Given the description of an element on the screen output the (x, y) to click on. 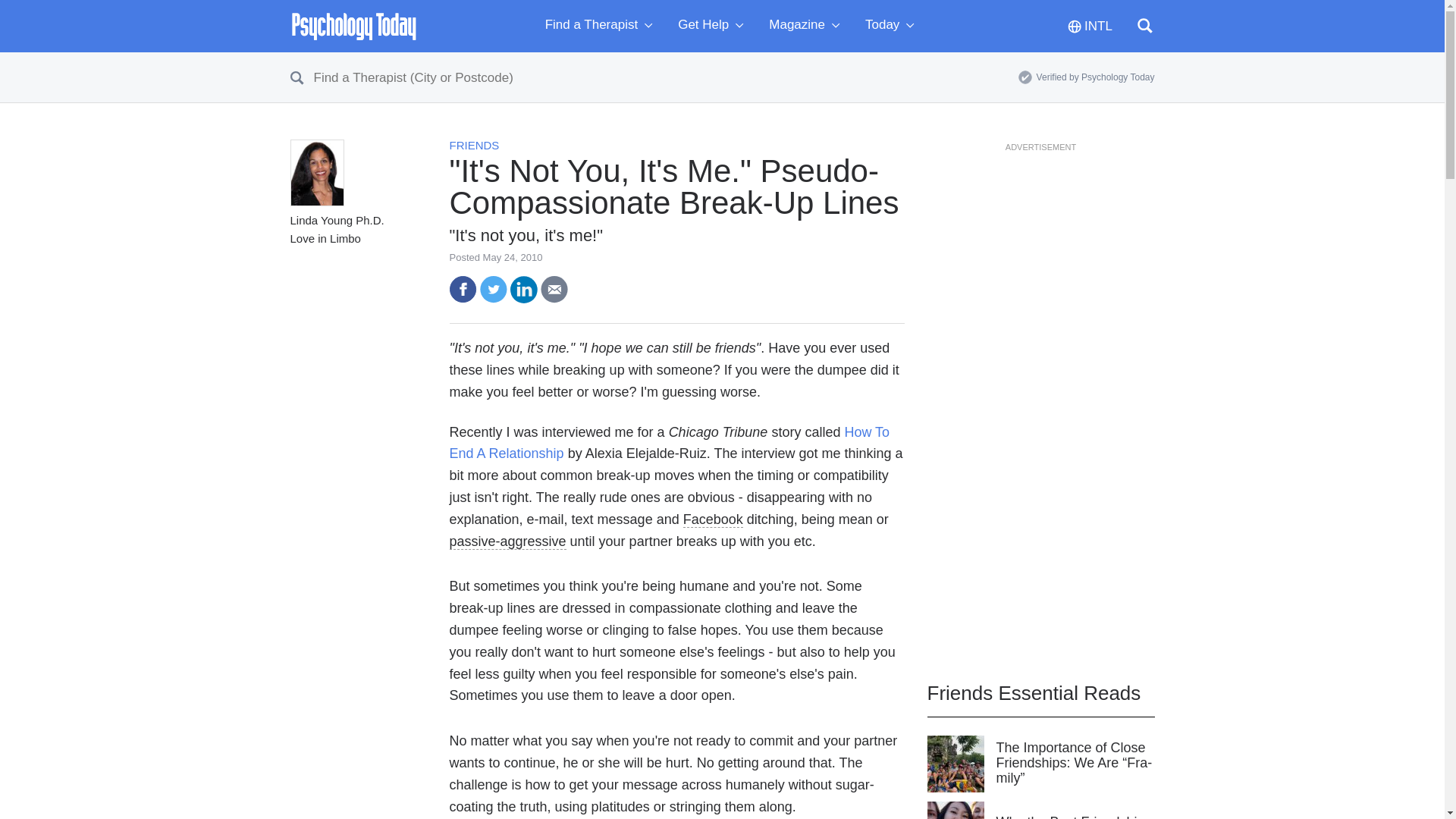
Get Help (714, 25)
Find a Therapist (602, 25)
Psychology Today (352, 25)
